Given the description of an element on the screen output the (x, y) to click on. 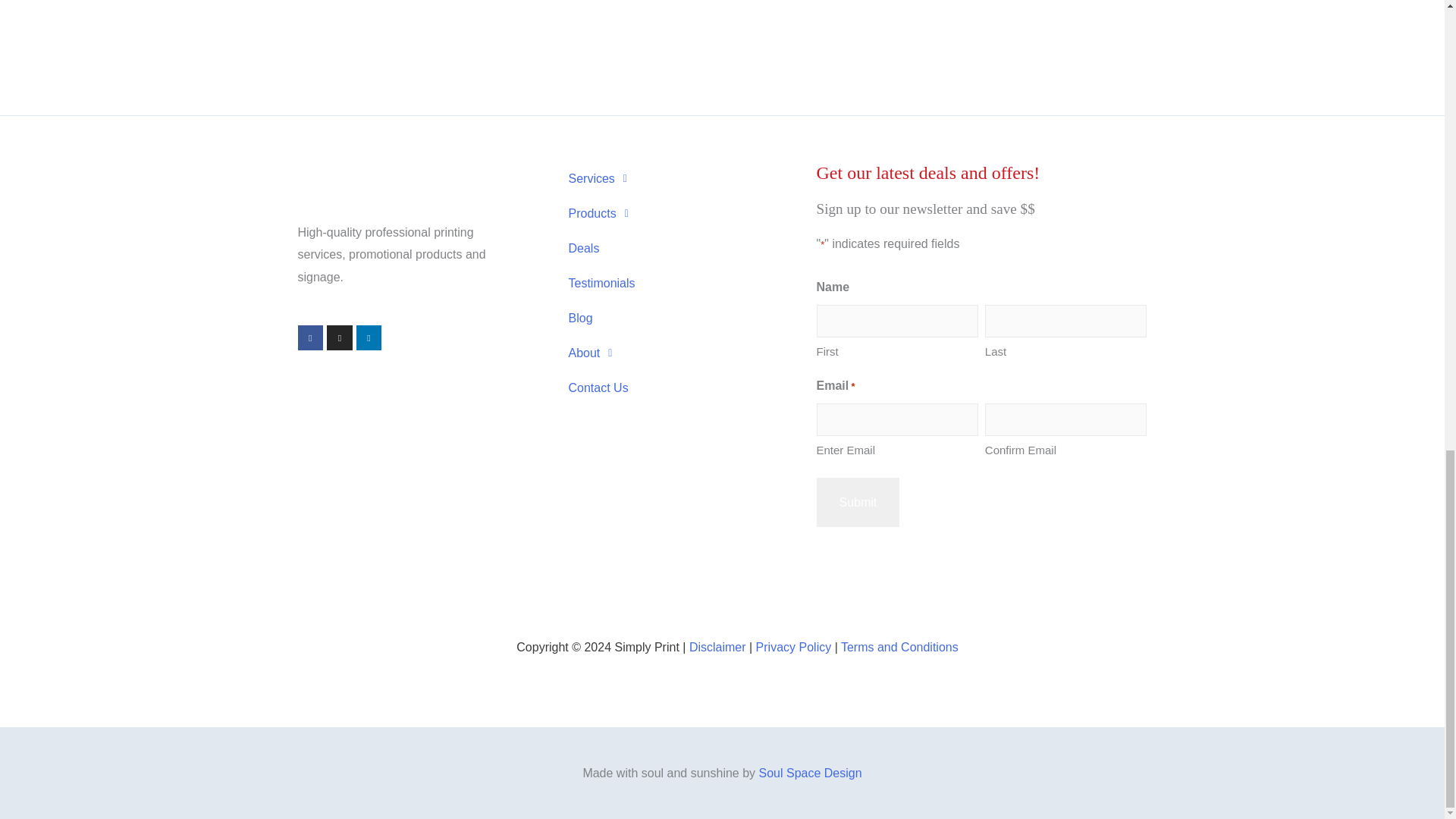
Submit (857, 502)
